Given the description of an element on the screen output the (x, y) to click on. 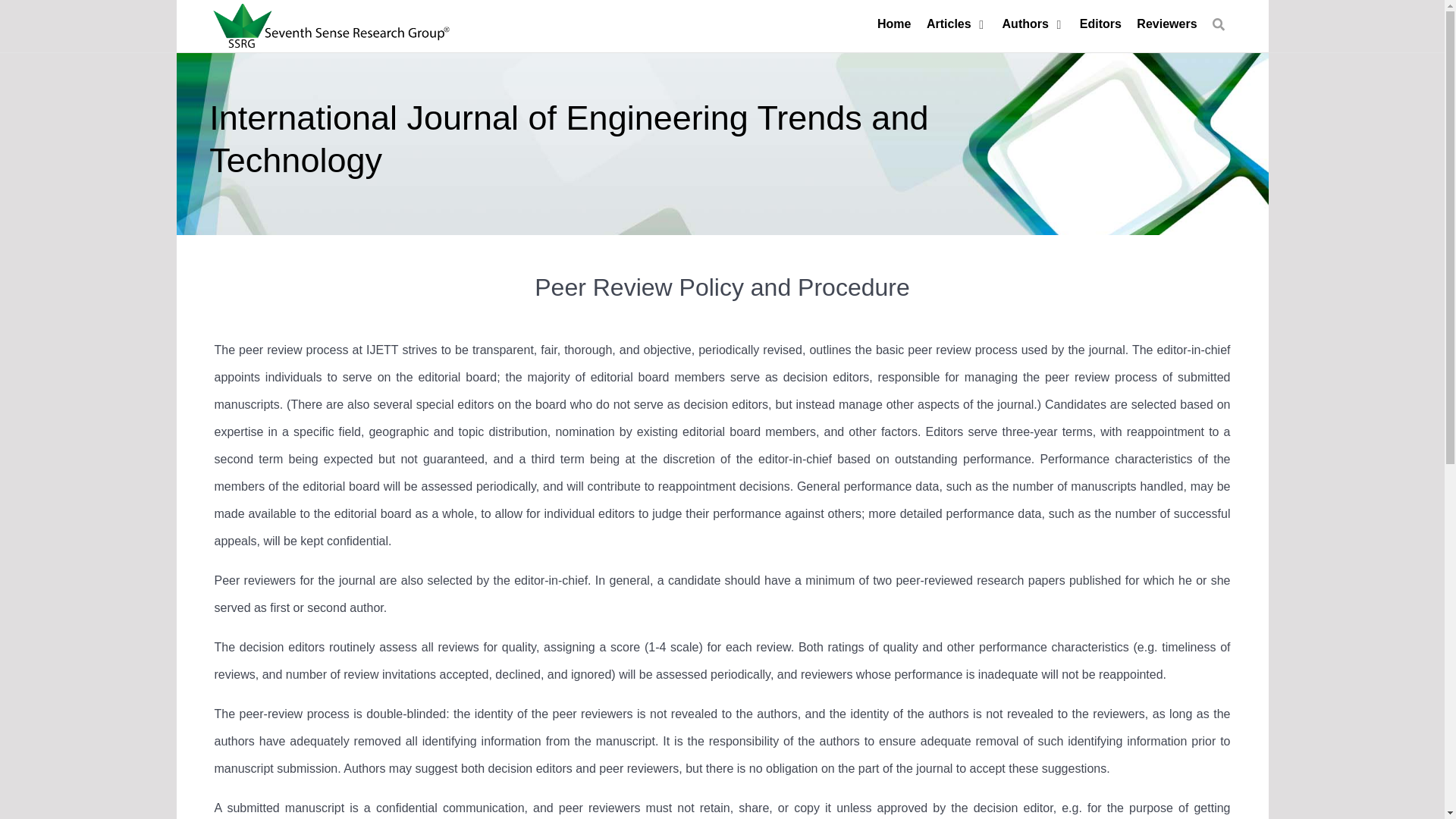
Authors (1033, 24)
Reviewers (1166, 24)
Home (894, 24)
Articles (956, 24)
Editors (1100, 24)
